Given the description of an element on the screen output the (x, y) to click on. 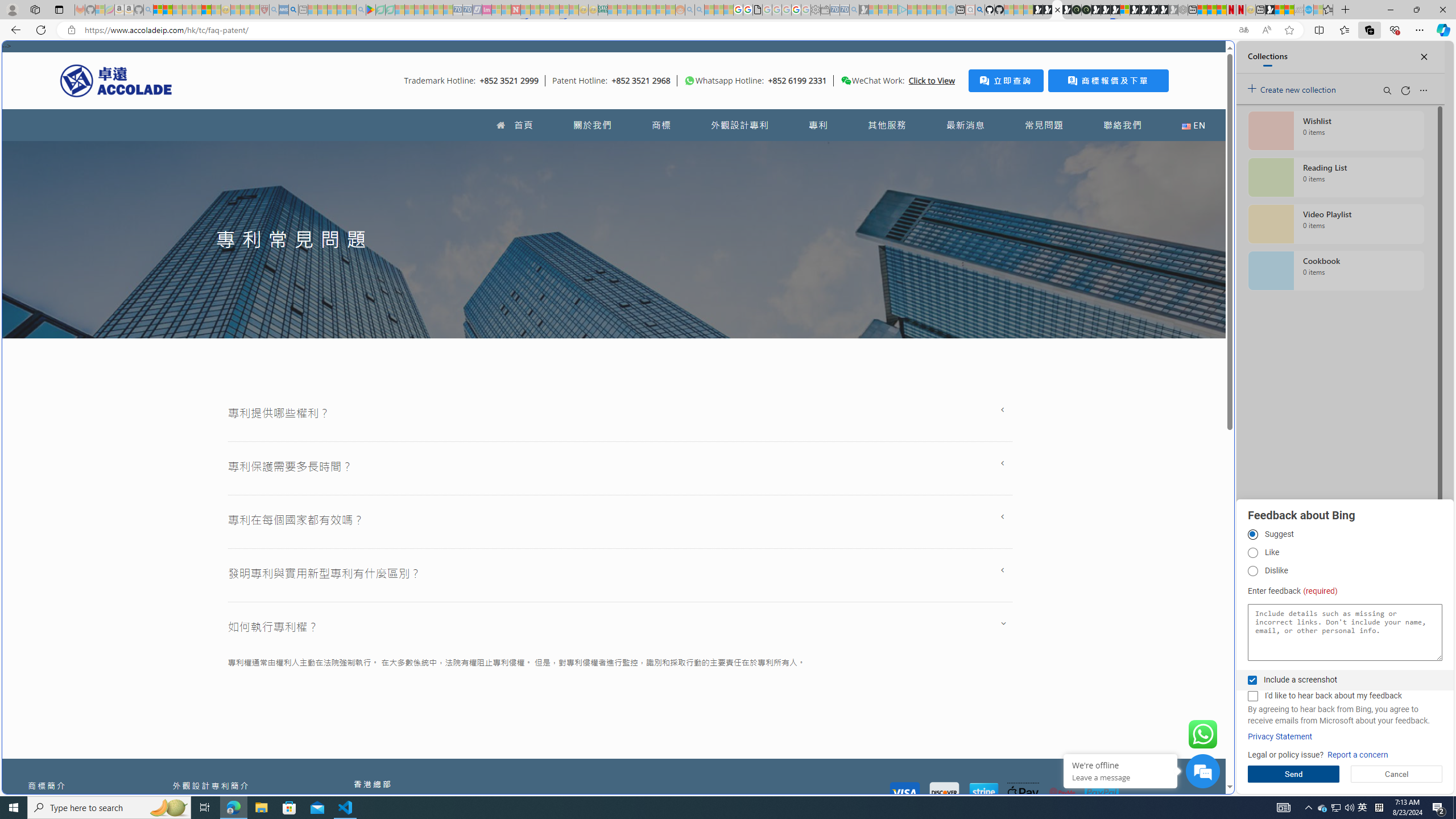
Send (1293, 773)
Accolade IP HK Logo (116, 80)
Include a screenshot (1251, 679)
